Given the description of an element on the screen output the (x, y) to click on. 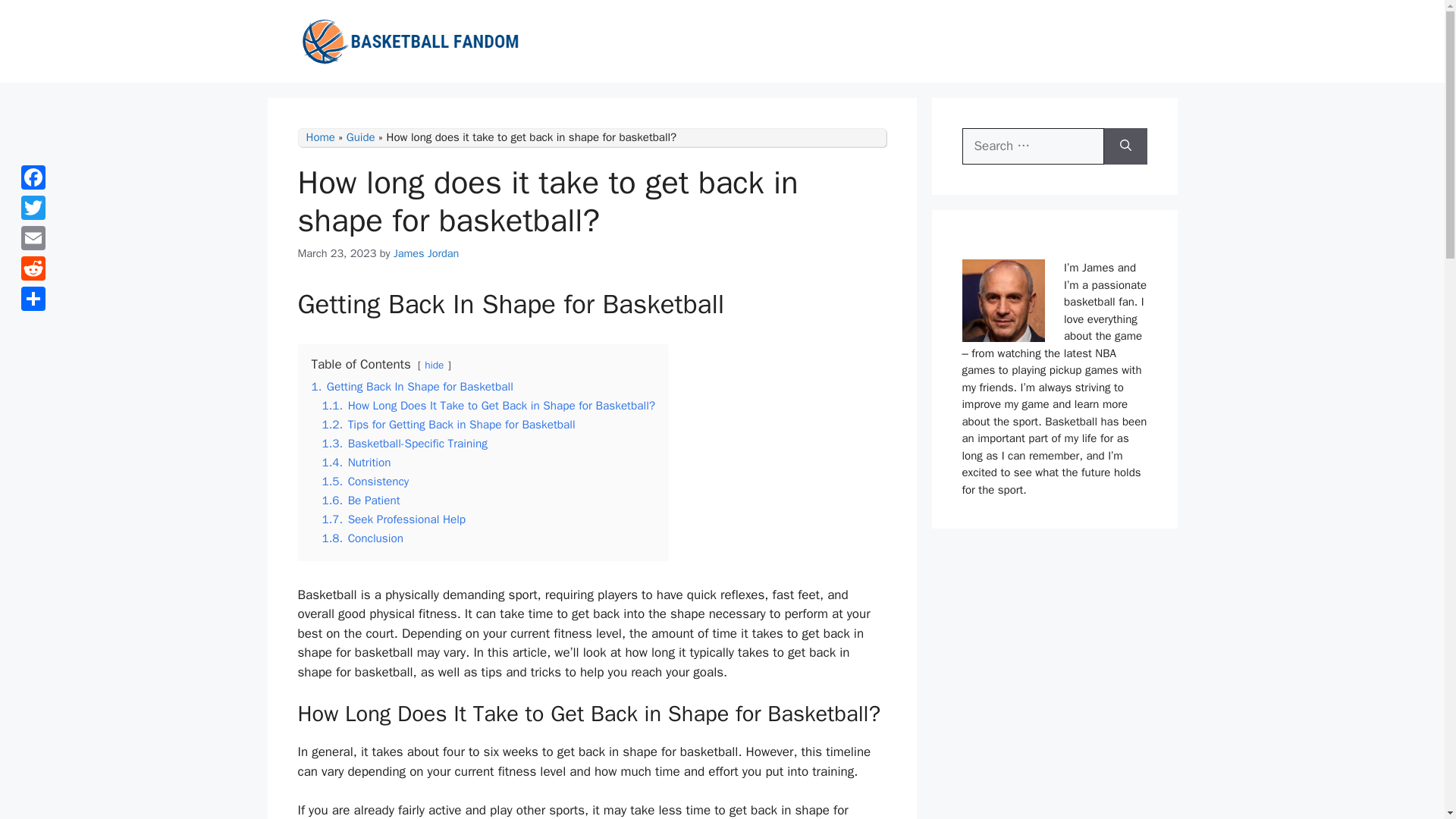
Facebook (32, 177)
1.6. Be Patient (359, 500)
1.2. Tips for Getting Back in Shape for Basketball (448, 424)
1.4. Nutrition (355, 462)
hide (434, 364)
Reddit (32, 268)
Reddit (32, 268)
1.3. Basketball-Specific Training (403, 443)
Guide (360, 137)
